Given the description of an element on the screen output the (x, y) to click on. 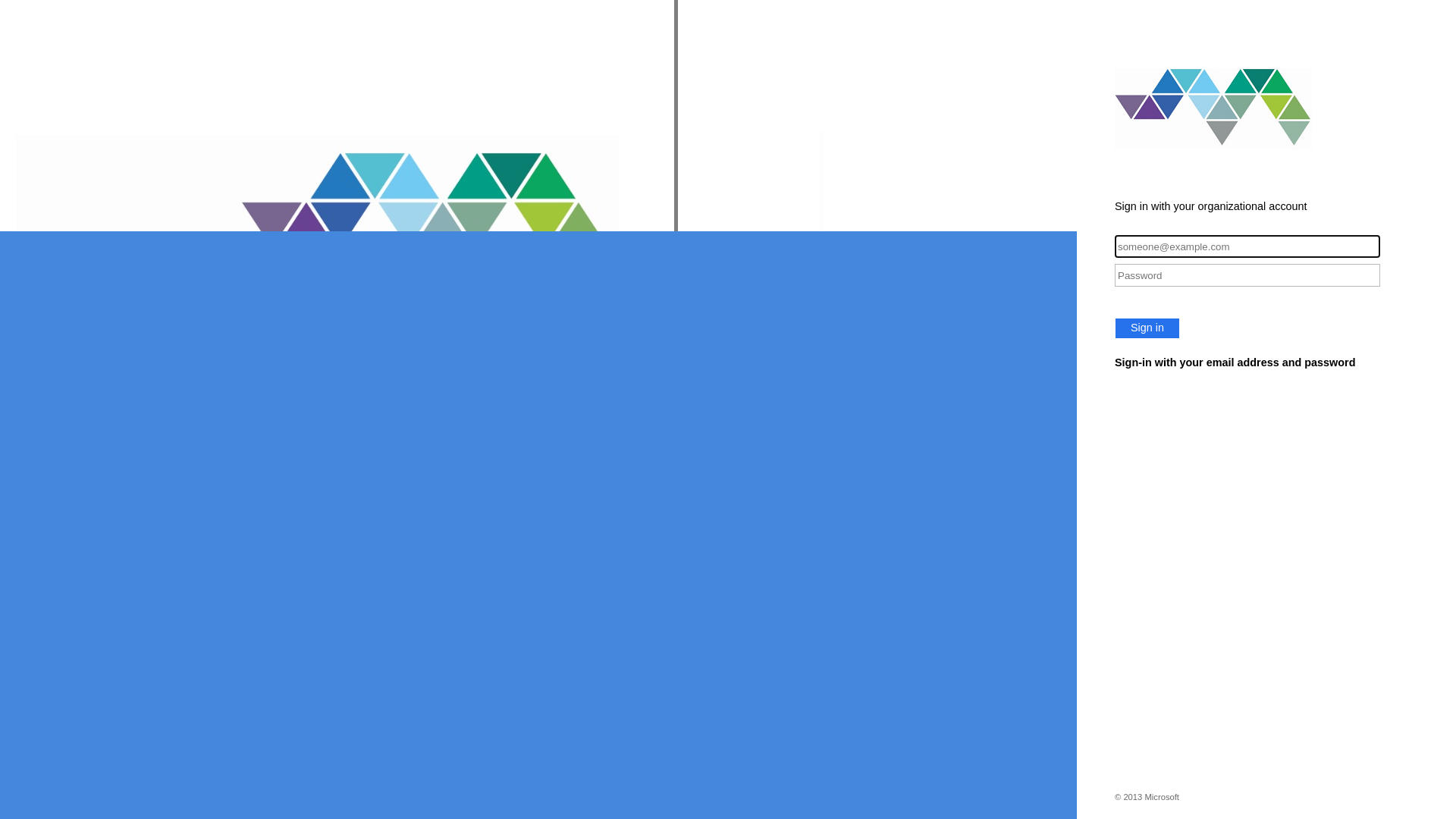
Sign in Element type: text (1146, 327)
